Given the description of an element on the screen output the (x, y) to click on. 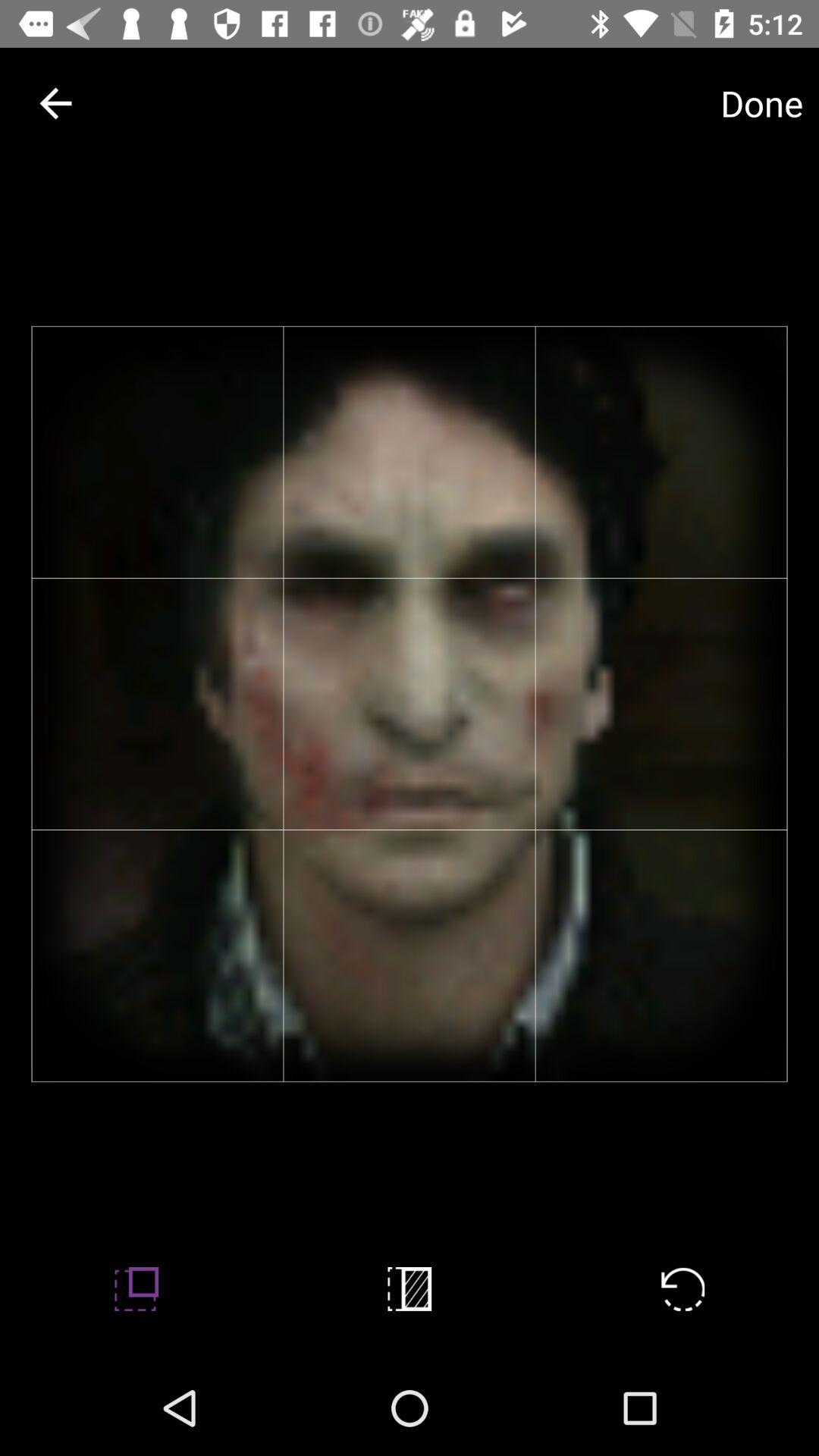
crop image (409, 1288)
